Given the description of an element on the screen output the (x, y) to click on. 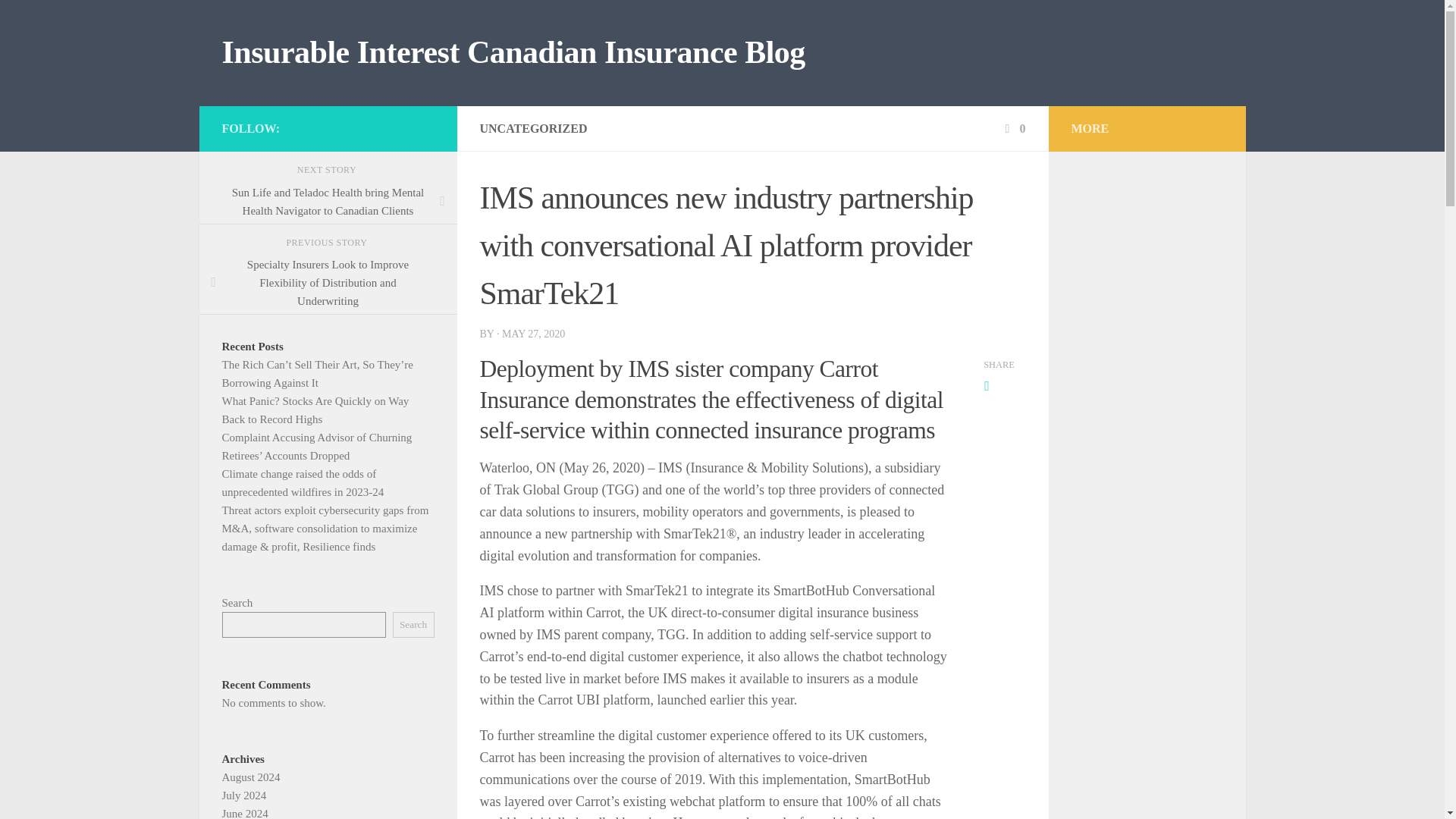
What Panic? Stocks Are Quickly on Way Back to Record Highs (315, 409)
Insurable Interest Canadian Insurance Blog (513, 53)
July 2024 (243, 795)
August 2024 (250, 776)
Skip to content (59, 20)
June 2024 (244, 813)
Search (413, 624)
